Given the description of an element on the screen output the (x, y) to click on. 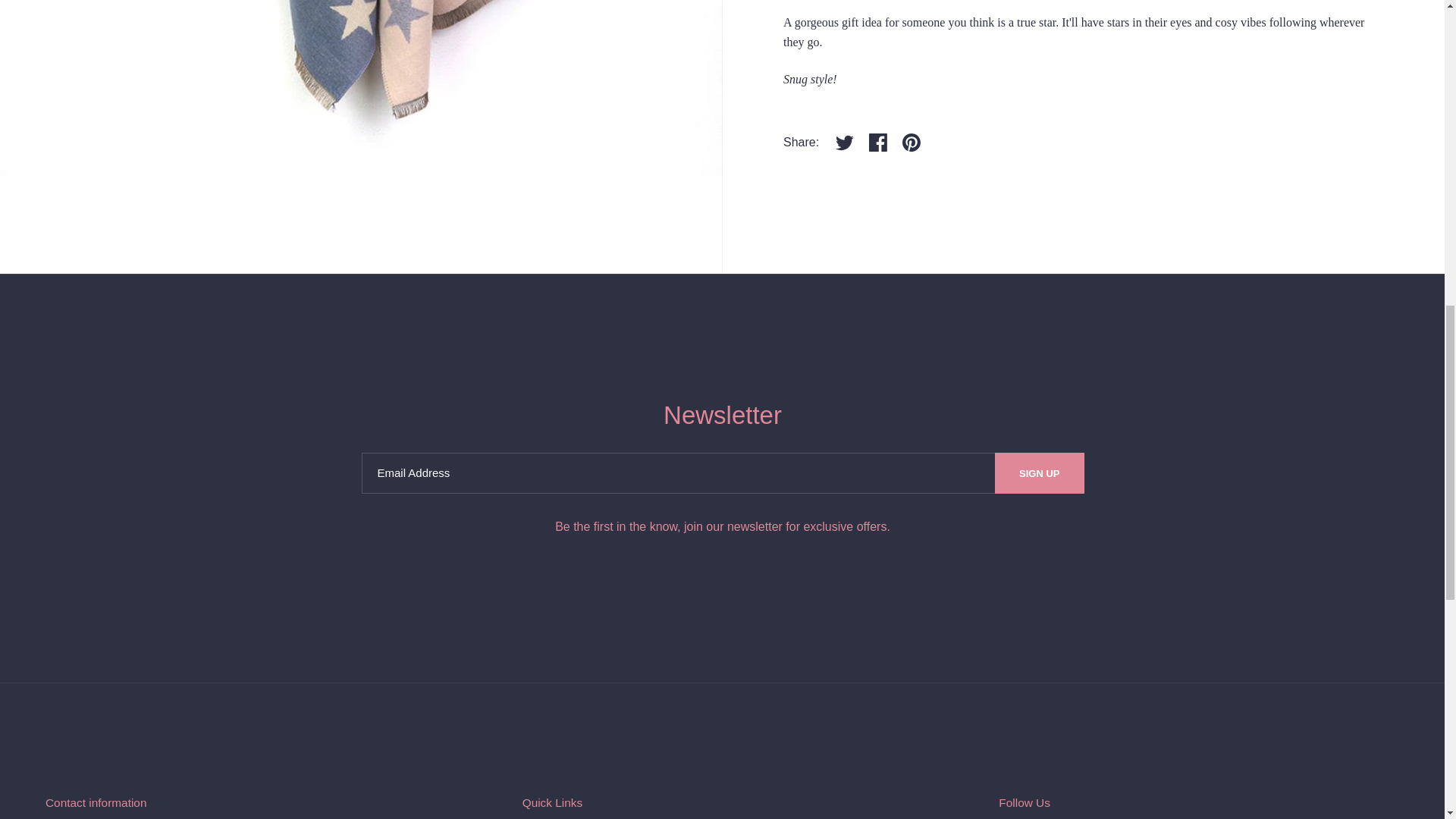
SIGN UP (1039, 473)
Share on facebook (878, 142)
Share on pinterest (911, 142)
